Given the description of an element on the screen output the (x, y) to click on. 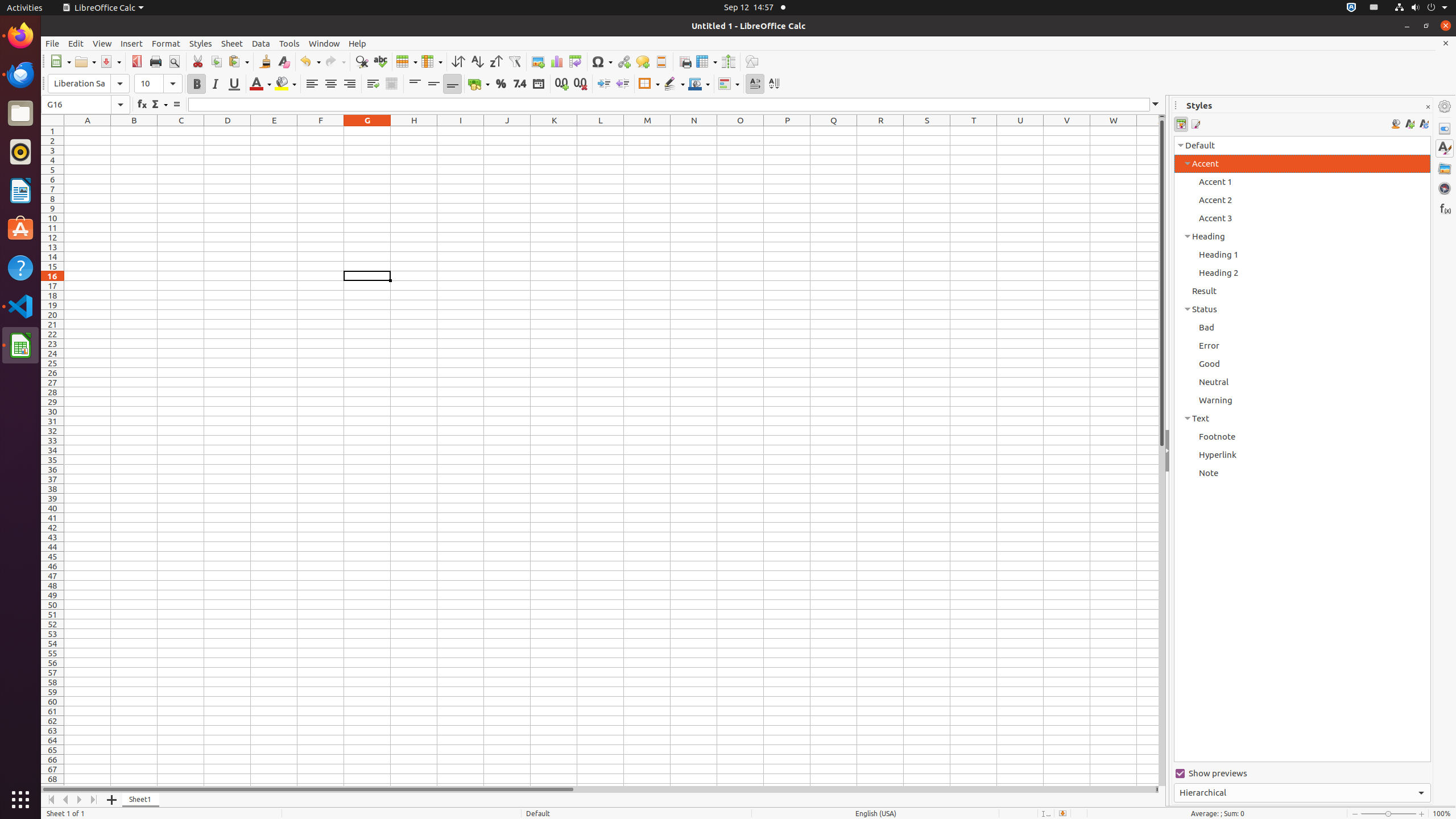
Data Element type: menu (260, 43)
Functions Element type: radio-button (1444, 208)
Redo Element type: push-button (334, 61)
X1 Element type: table-cell (1147, 130)
Paste Element type: push-button (237, 61)
